Given the description of an element on the screen output the (x, y) to click on. 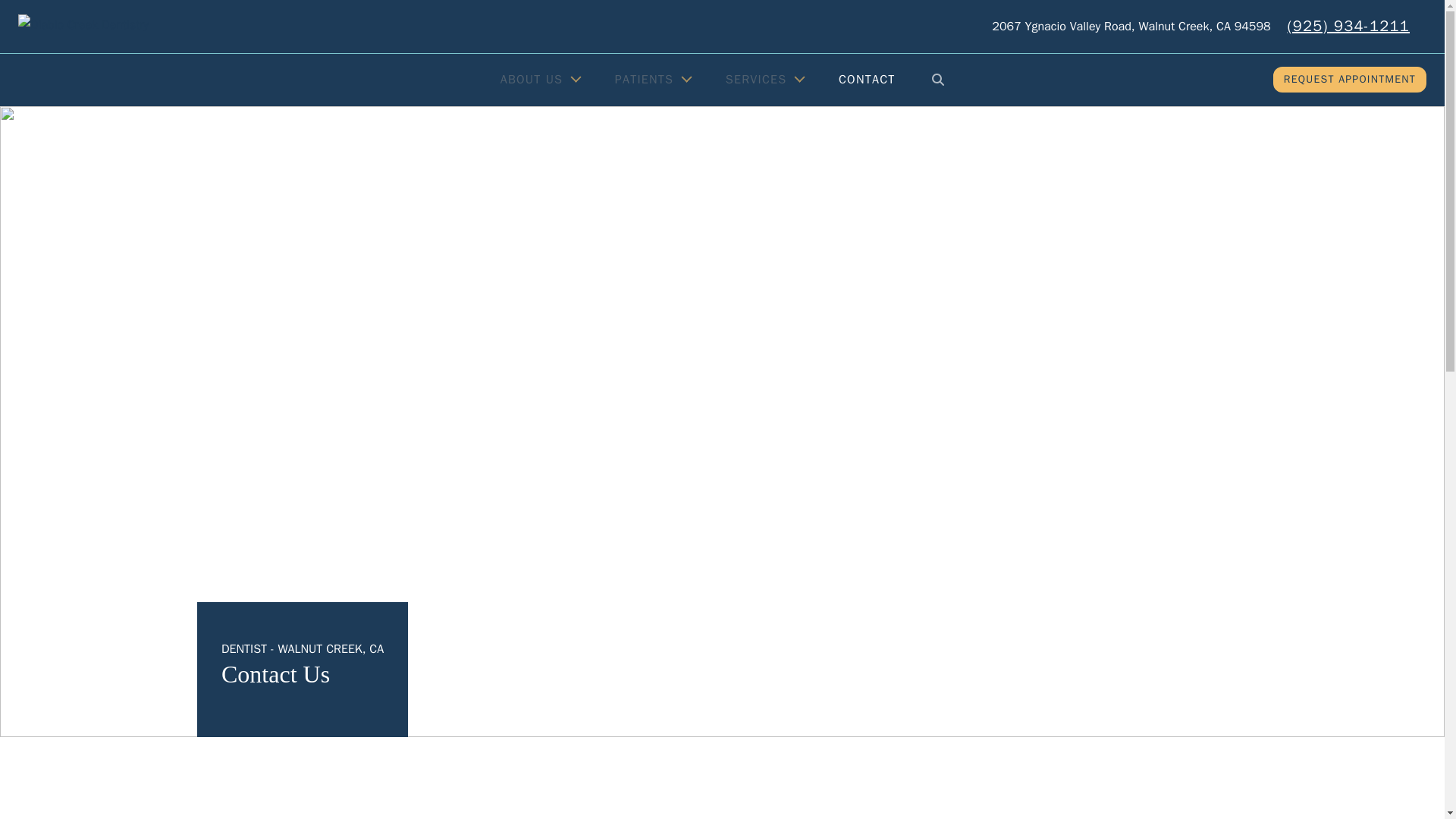
SERVICES (763, 79)
SEARCH (937, 78)
ABOUT US (538, 79)
CONTACT (867, 79)
REQUEST APPOINTMENT (1349, 79)
PATIENTS (651, 79)
